Given the description of an element on the screen output the (x, y) to click on. 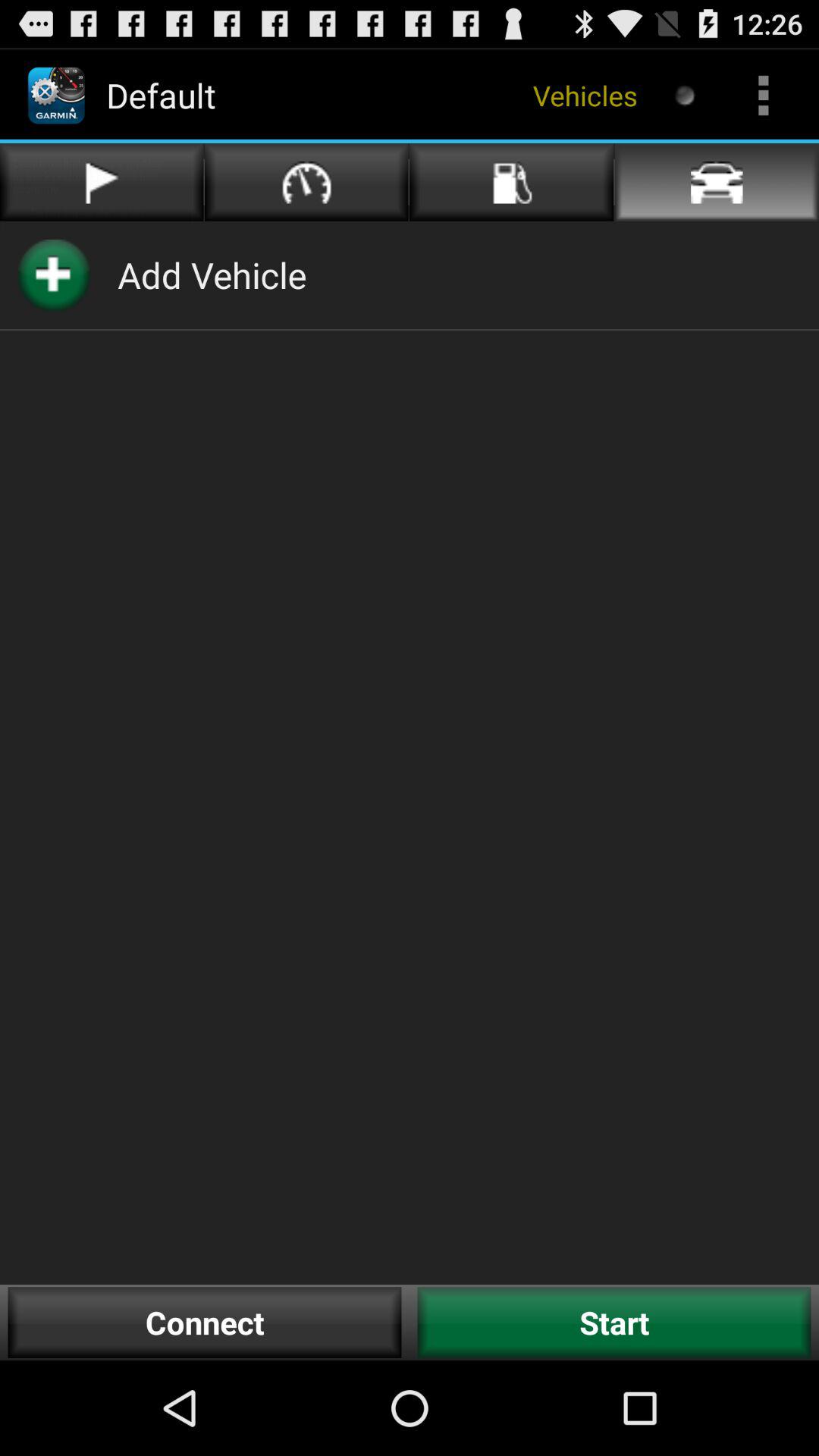
choose the button next to start (204, 1322)
